Given the description of an element on the screen output the (x, y) to click on. 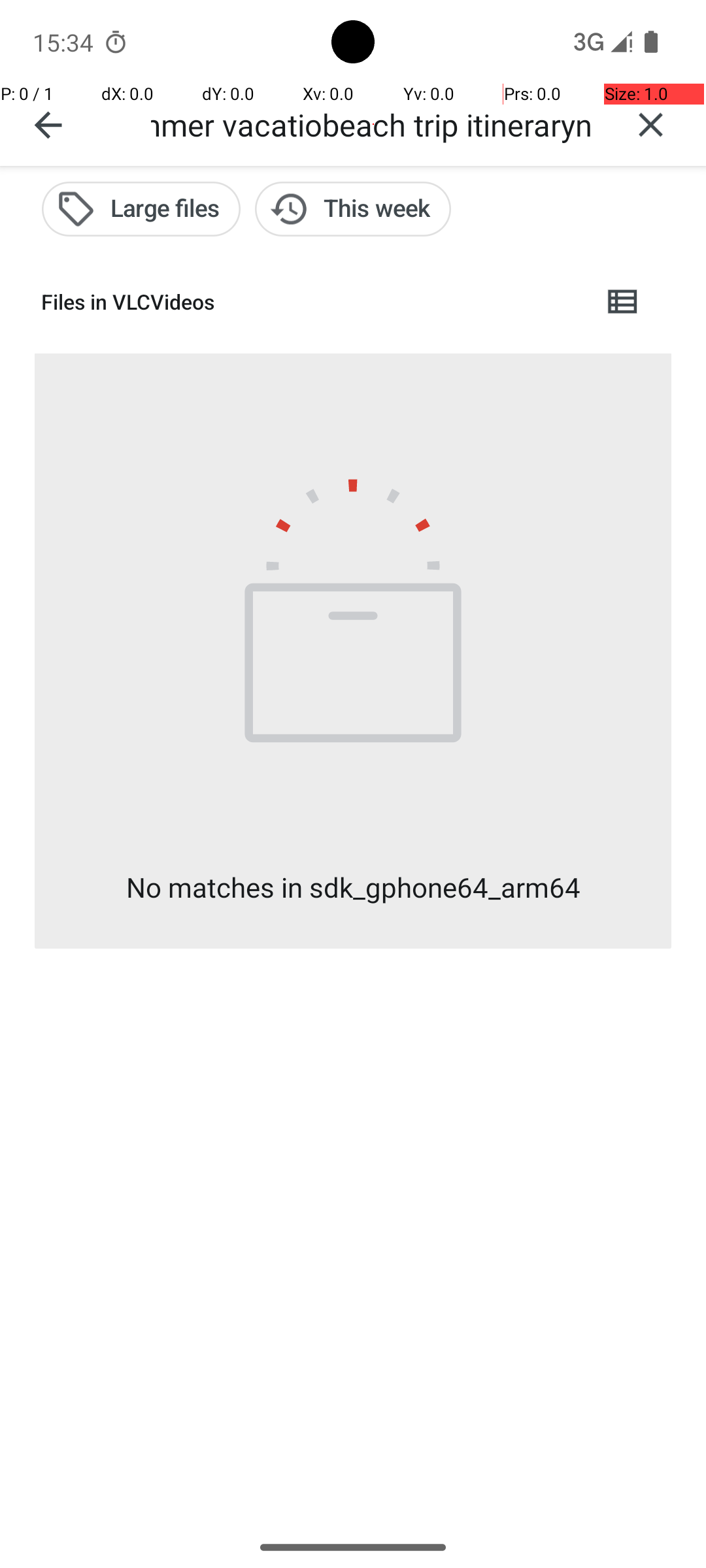
Files in VLCVideos Element type: android.widget.TextView (311, 301)
summer vacatiobeach trip itineraryn plans Element type: android.widget.AutoCompleteTextView (373, 124)
No matches in sdk_gphone64_arm64 Element type: android.widget.TextView (352, 886)
